Given the description of an element on the screen output the (x, y) to click on. 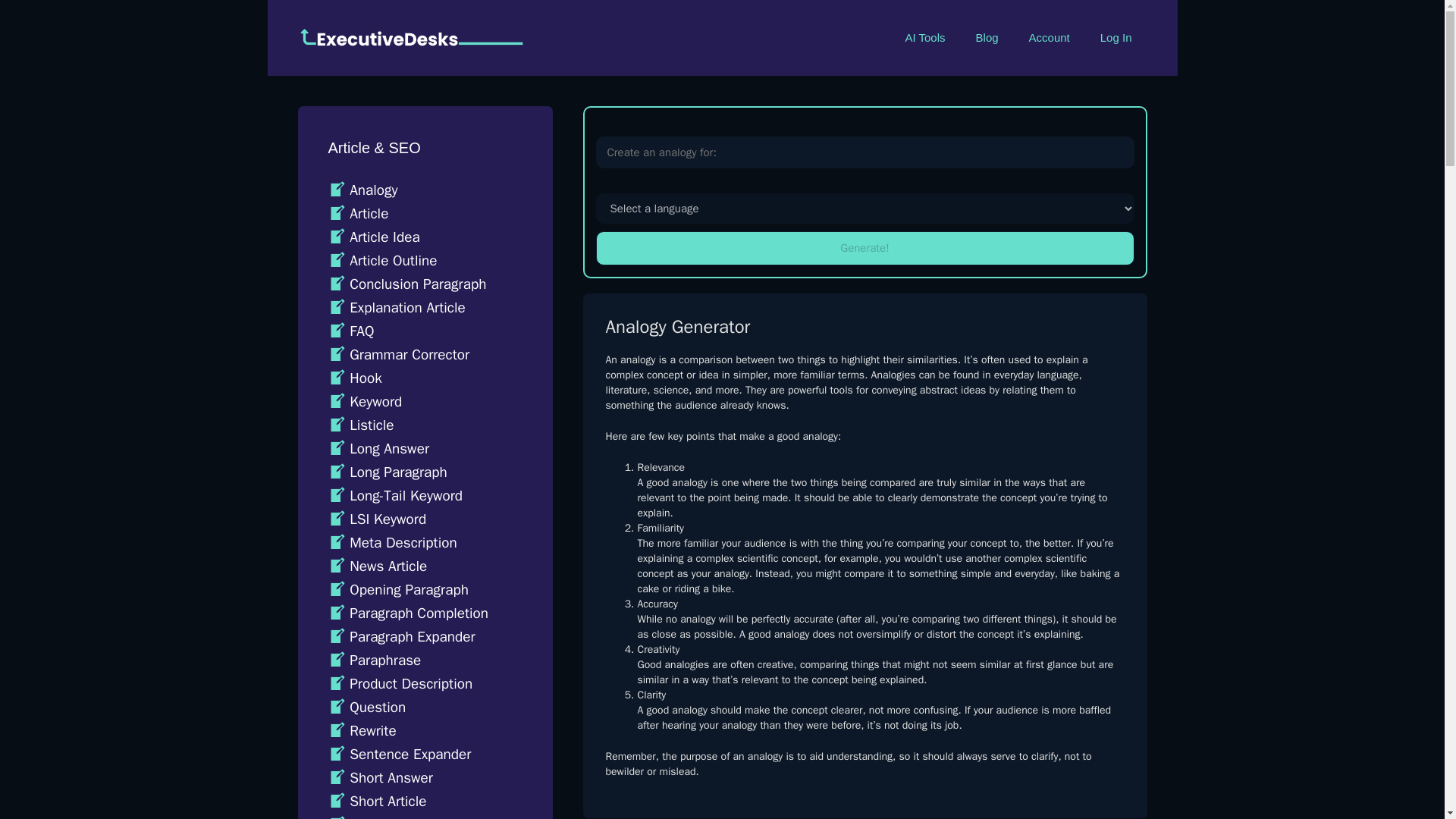
Explanation Article (395, 307)
Analogy (362, 189)
Generate! (864, 247)
Long-Tail Keyword (394, 495)
Log In (1115, 37)
Keyword (364, 402)
Paraphrase (373, 660)
Product Description (399, 683)
Conclusion Paragraph (406, 284)
Hook (354, 378)
Rewrite (361, 730)
Paragraph Completion (407, 613)
Long Paragraph (386, 472)
Article Outline (381, 260)
Blog (986, 37)
